Given the description of an element on the screen output the (x, y) to click on. 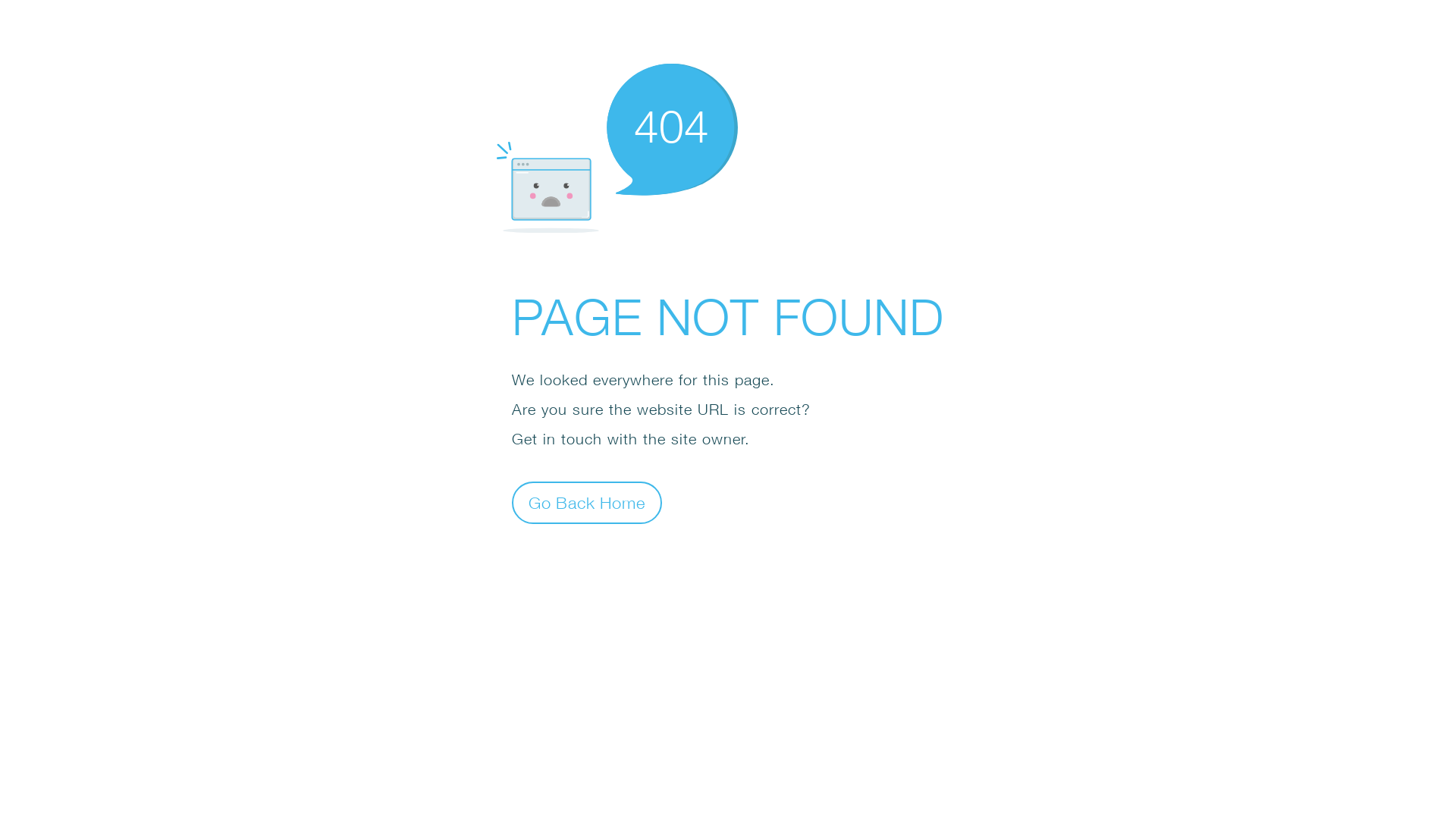
Go Back Home Element type: text (586, 502)
